Given the description of an element on the screen output the (x, y) to click on. 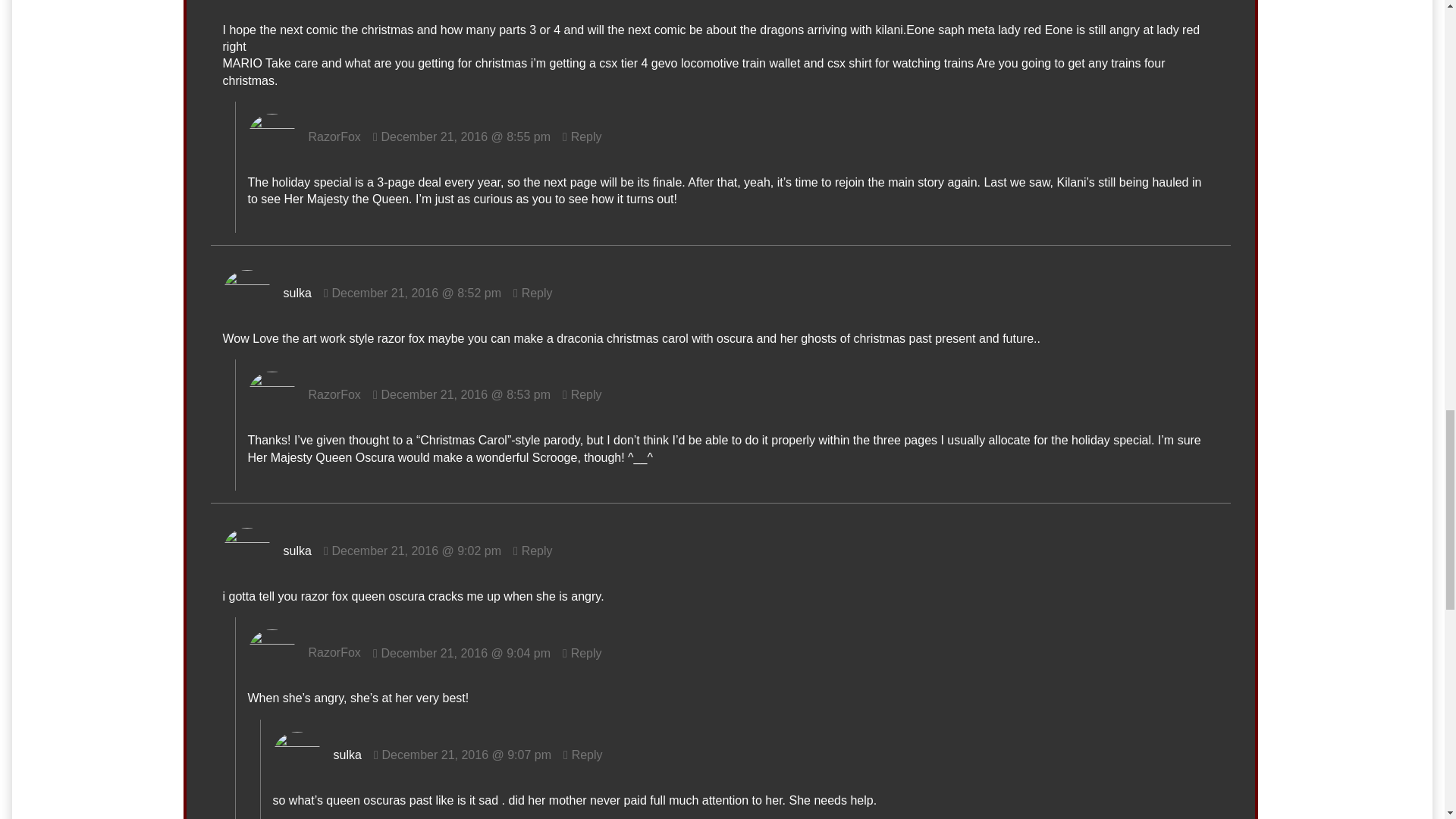
Reply (533, 550)
RazorFox (334, 653)
RazorFox (334, 136)
Reply (582, 136)
RazorFox (334, 394)
Reply (533, 292)
Reply (582, 394)
